Given the description of an element on the screen output the (x, y) to click on. 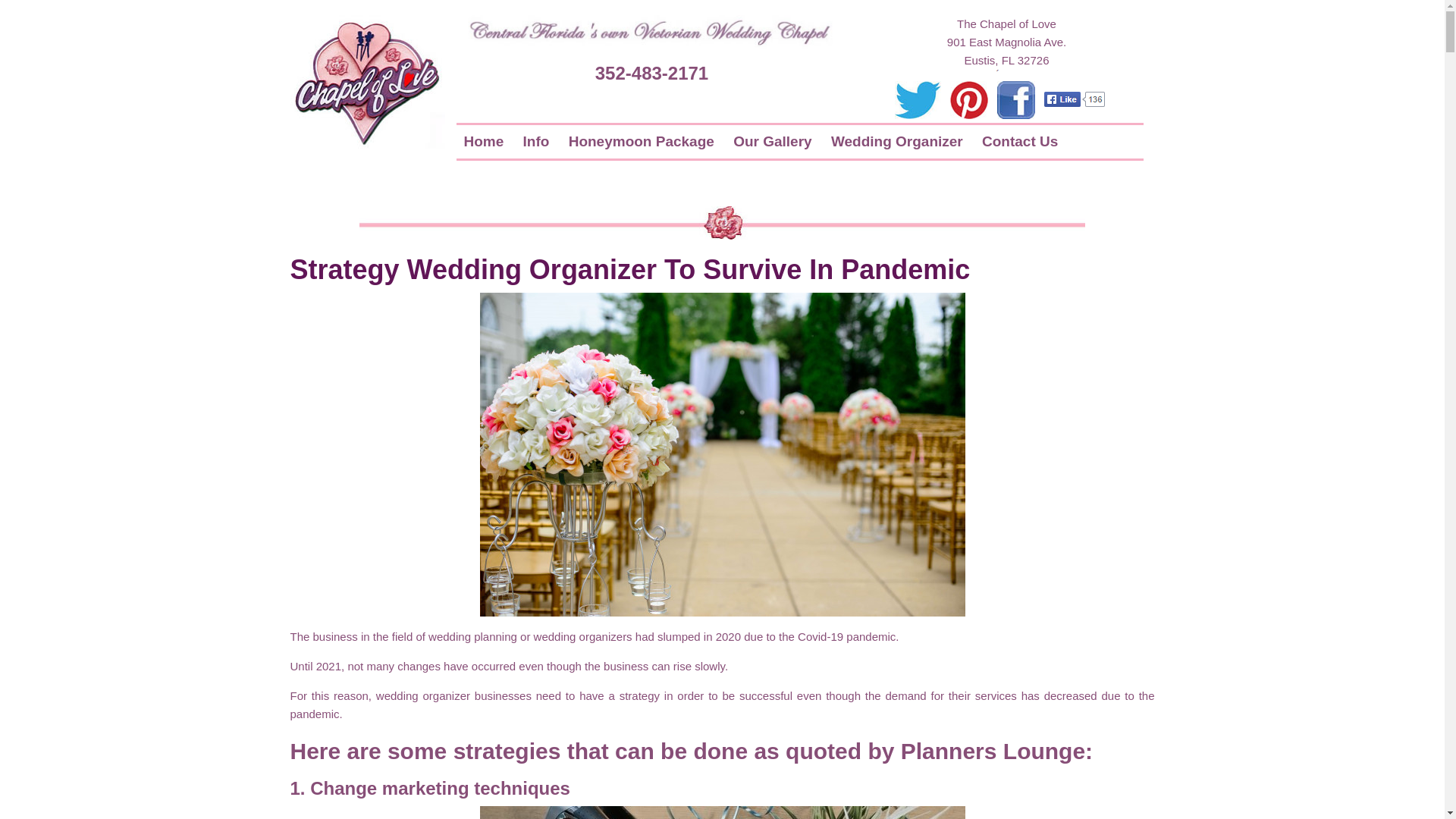
Strategy Wedding Organizer To Survive In Pandemic (629, 269)
Wedding Organizer (897, 141)
Home (484, 141)
Our Gallery (772, 141)
Contact Us (1019, 141)
Info (536, 141)
Honeymoon Package (641, 141)
